Given the description of an element on the screen output the (x, y) to click on. 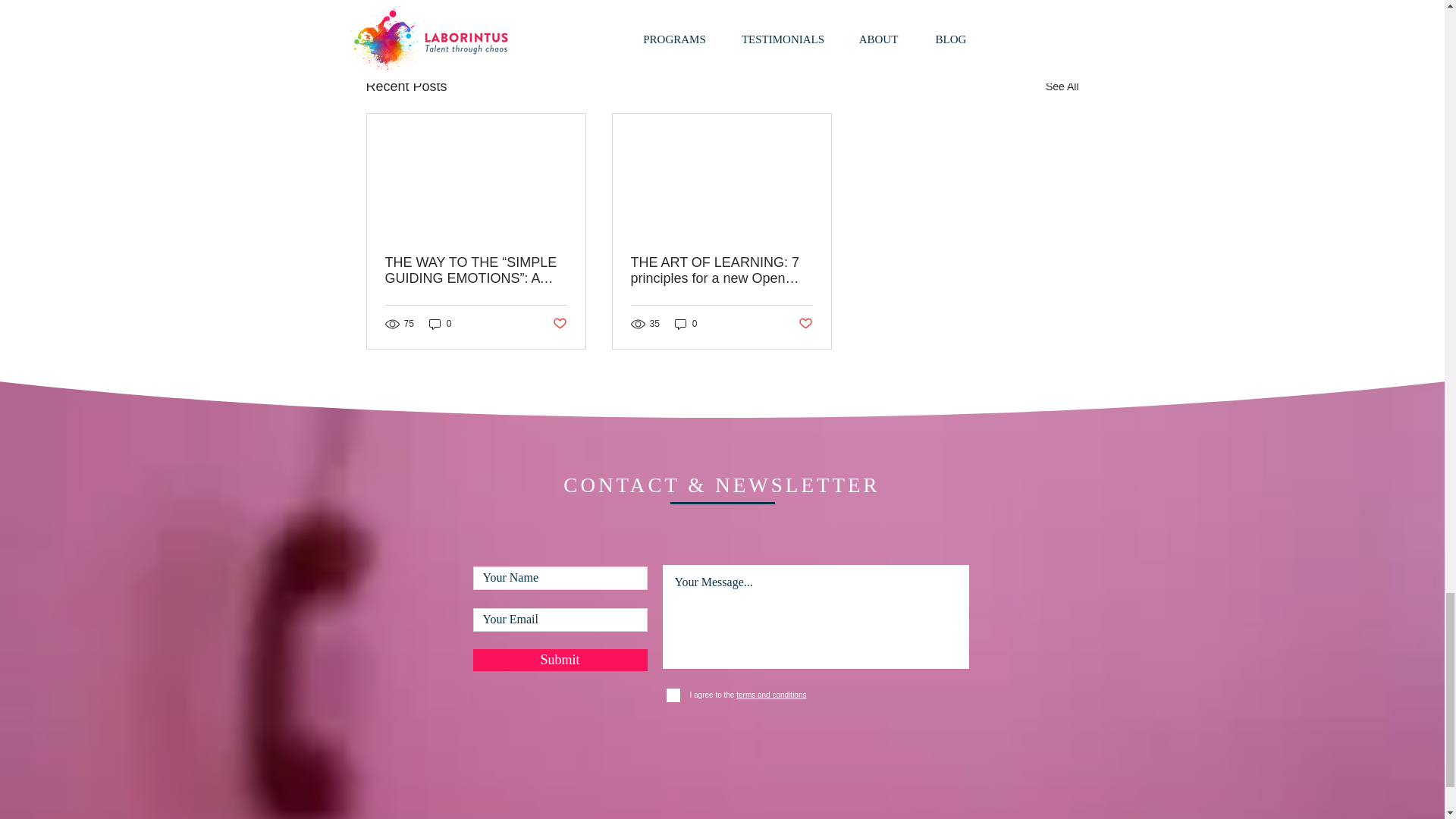
Post not marked as liked (995, 6)
Submit (560, 659)
0 (685, 323)
Post not marked as liked (804, 324)
terms and conditions (769, 695)
0 (440, 323)
See All (1061, 86)
Post not marked as liked (558, 324)
